Given the description of an element on the screen output the (x, y) to click on. 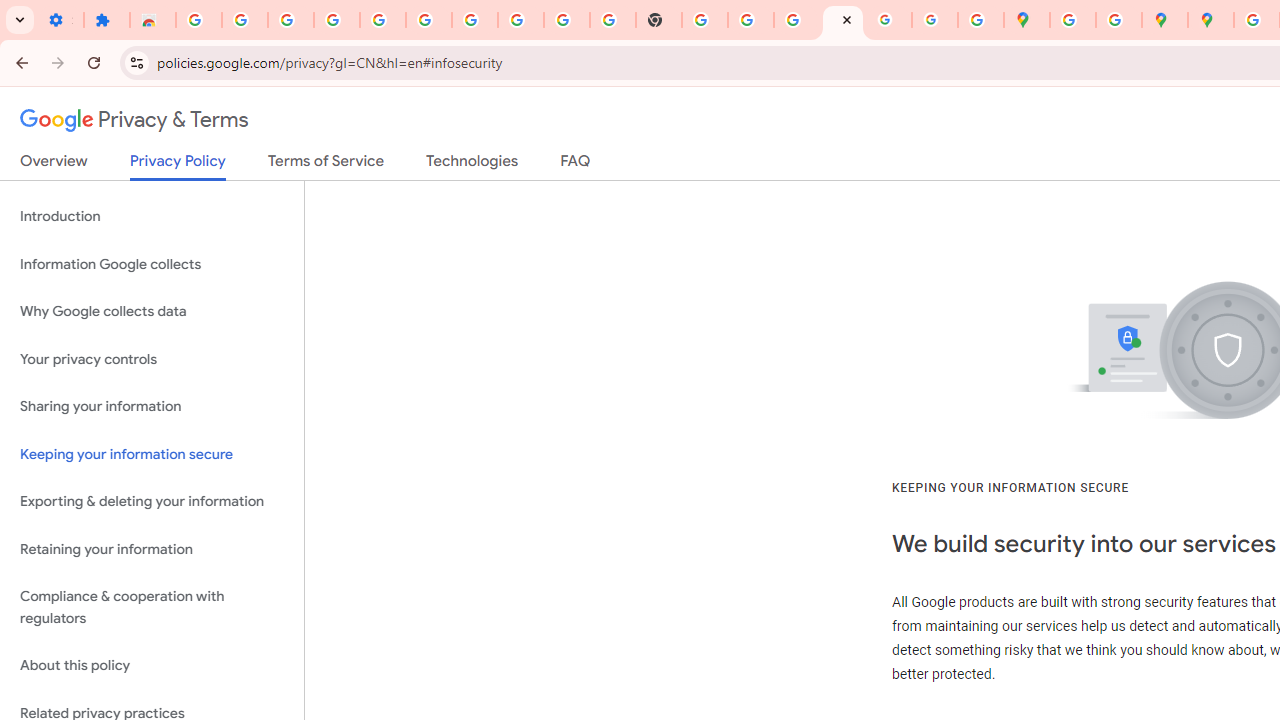
https://scholar.google.com/ (705, 20)
Google Account (520, 20)
Google Maps (1026, 20)
